Given the description of an element on the screen output the (x, y) to click on. 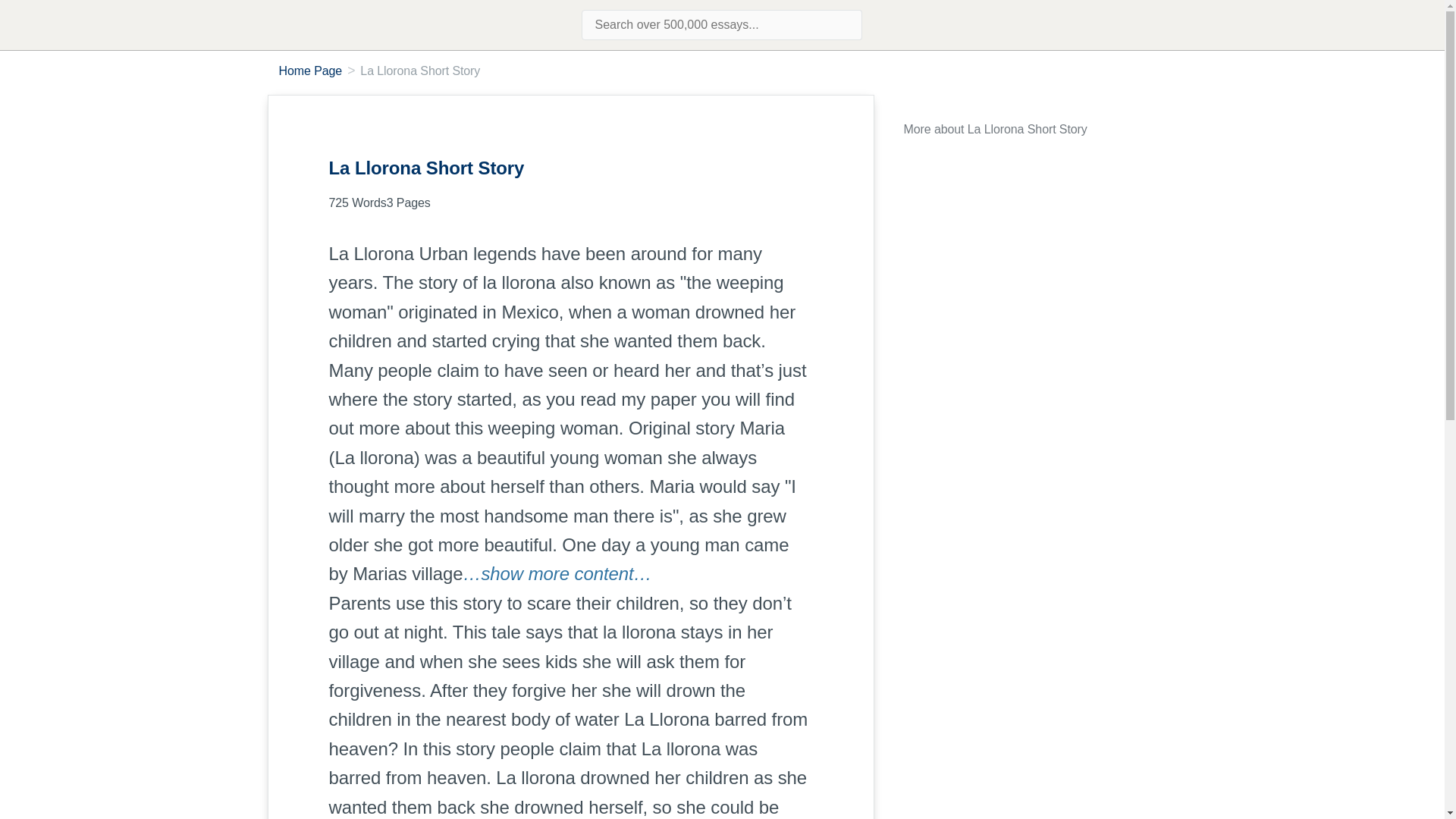
Home Page (310, 70)
